Given the description of an element on the screen output the (x, y) to click on. 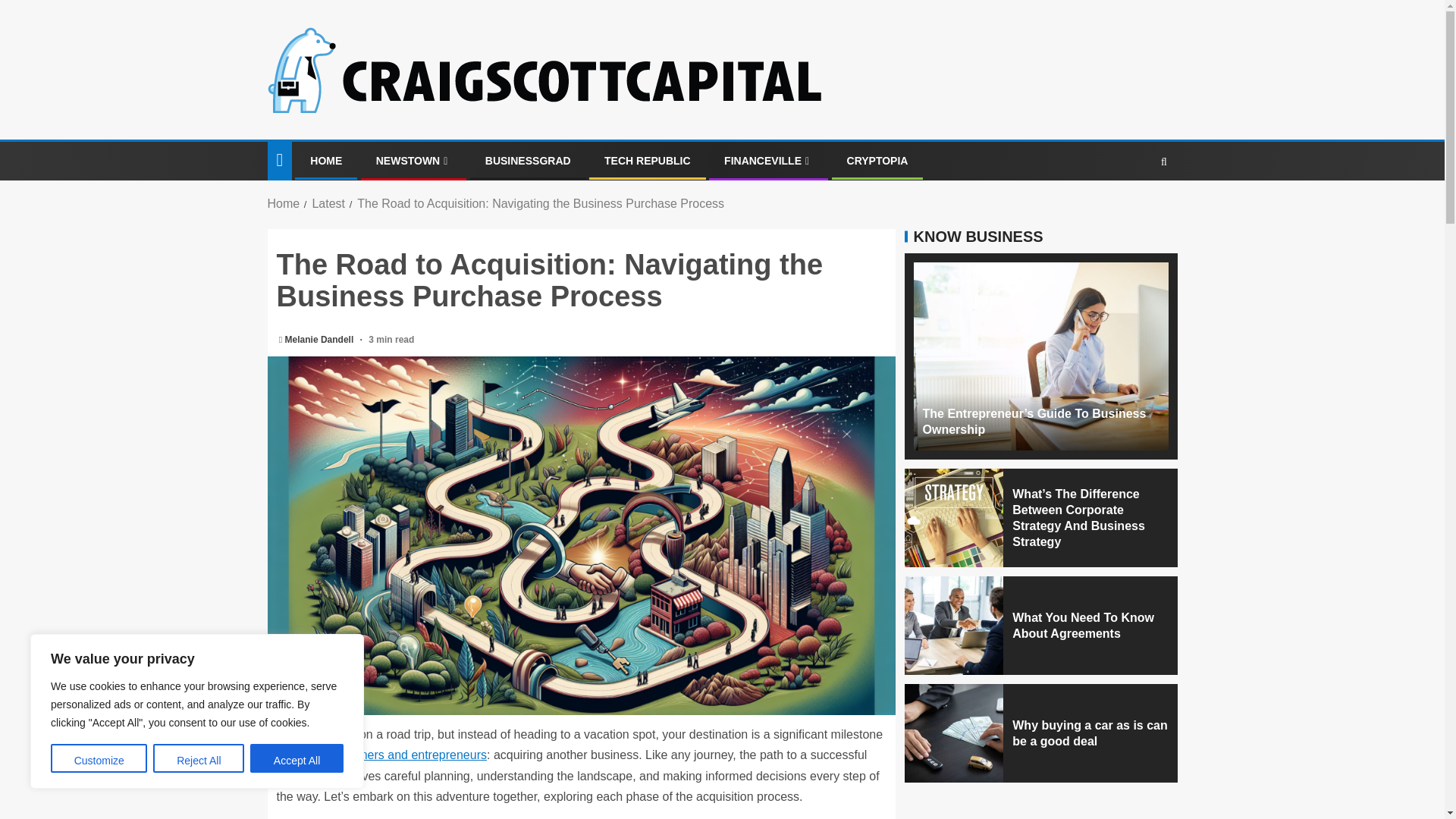
TECH REPUBLIC (647, 160)
Home (282, 203)
Customize (98, 758)
for business owners and entrepreneurs (381, 754)
Search (1133, 206)
Reject All (198, 758)
FINANCEVILLE (767, 160)
Accept All (296, 758)
Melanie Dandell (320, 339)
BUSINESSGRAD (527, 160)
NEWSTOWN (413, 160)
CRYPTOPIA (877, 160)
Latest (328, 203)
HOME (326, 160)
